Given the description of an element on the screen output the (x, y) to click on. 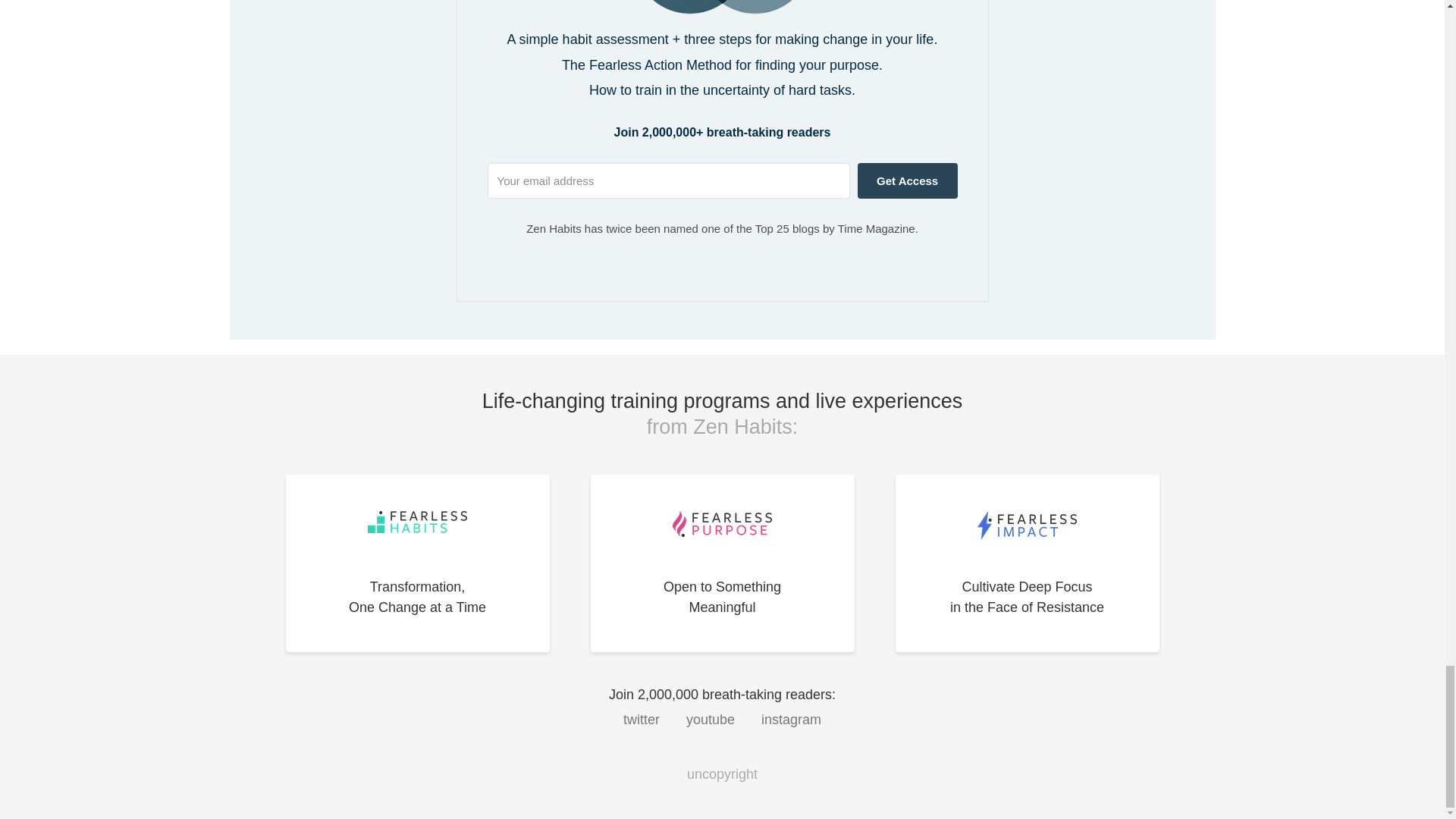
instagram (1026, 563)
twitter (791, 719)
youtube (721, 563)
Get Access (641, 719)
uncopyright (416, 563)
